Given the description of an element on the screen output the (x, y) to click on. 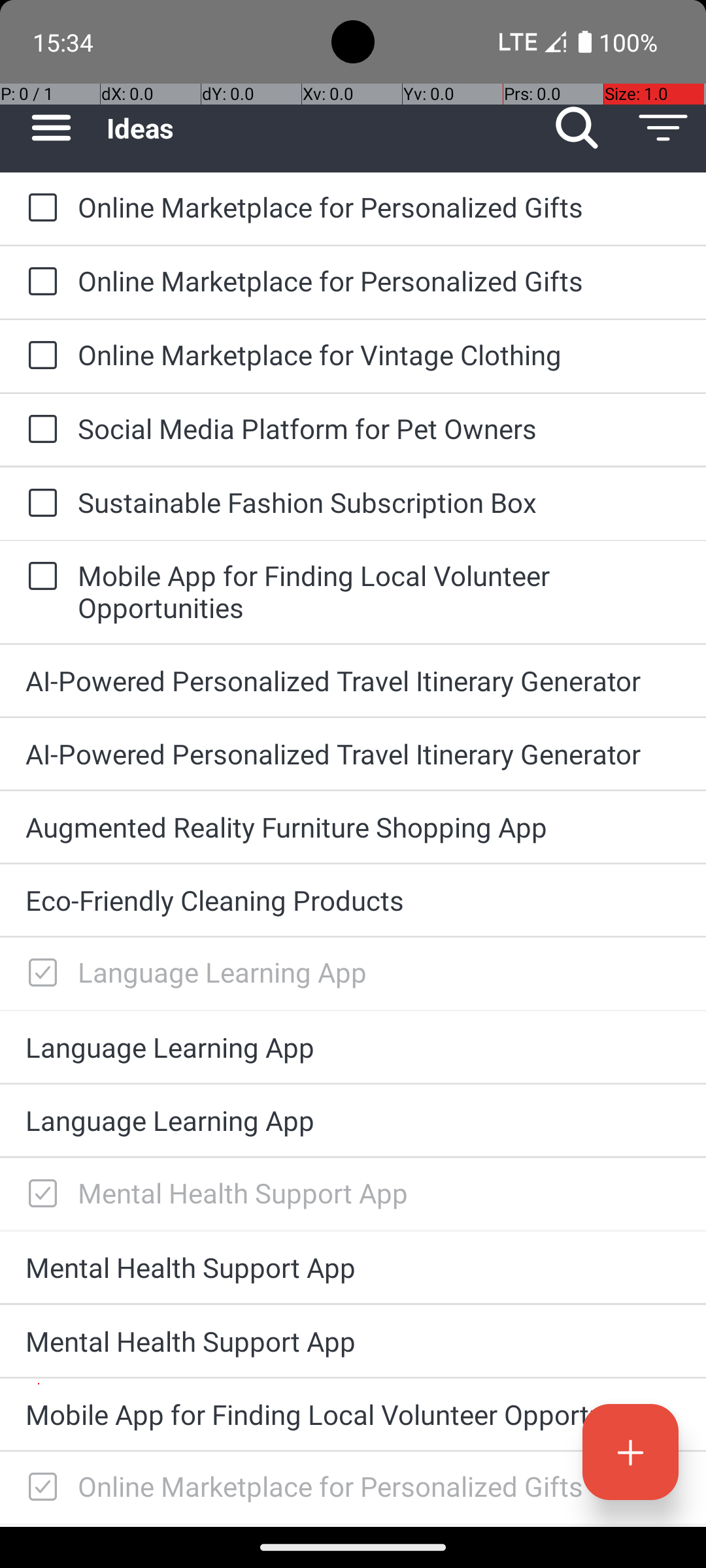
to-do: Online Marketplace for Personalized Gifts Element type: android.widget.CheckBox (38, 208)
Online Marketplace for Personalized Gifts Element type: android.widget.TextView (378, 206)
to-do: Online Marketplace for Vintage Clothing Element type: android.widget.CheckBox (38, 356)
Online Marketplace for Vintage Clothing Element type: android.widget.TextView (378, 354)
to-do: Social Media Platform for Pet Owners Element type: android.widget.CheckBox (38, 429)
Social Media Platform for Pet Owners Element type: android.widget.TextView (378, 427)
to-do: Sustainable Fashion Subscription Box Element type: android.widget.CheckBox (38, 503)
Sustainable Fashion Subscription Box Element type: android.widget.TextView (378, 501)
to-do: Mobile App for Finding Local Volunteer Opportunities Element type: android.widget.CheckBox (38, 576)
Mobile App for Finding Local Volunteer Opportunities Element type: android.widget.TextView (378, 590)
AI-Powered Personalized Travel Itinerary Generator Element type: android.widget.TextView (352, 680)
Augmented Reality Furniture Shopping App Element type: android.widget.TextView (352, 826)
Eco-Friendly Cleaning Products Element type: android.widget.TextView (352, 899)
to-do: Language Learning App Element type: android.widget.CheckBox (38, 973)
Language Learning App Element type: android.widget.TextView (378, 971)
to-do: Mental Health Support App Element type: android.widget.CheckBox (38, 1194)
Mental Health Support App Element type: android.widget.TextView (378, 1192)
